Given the description of an element on the screen output the (x, y) to click on. 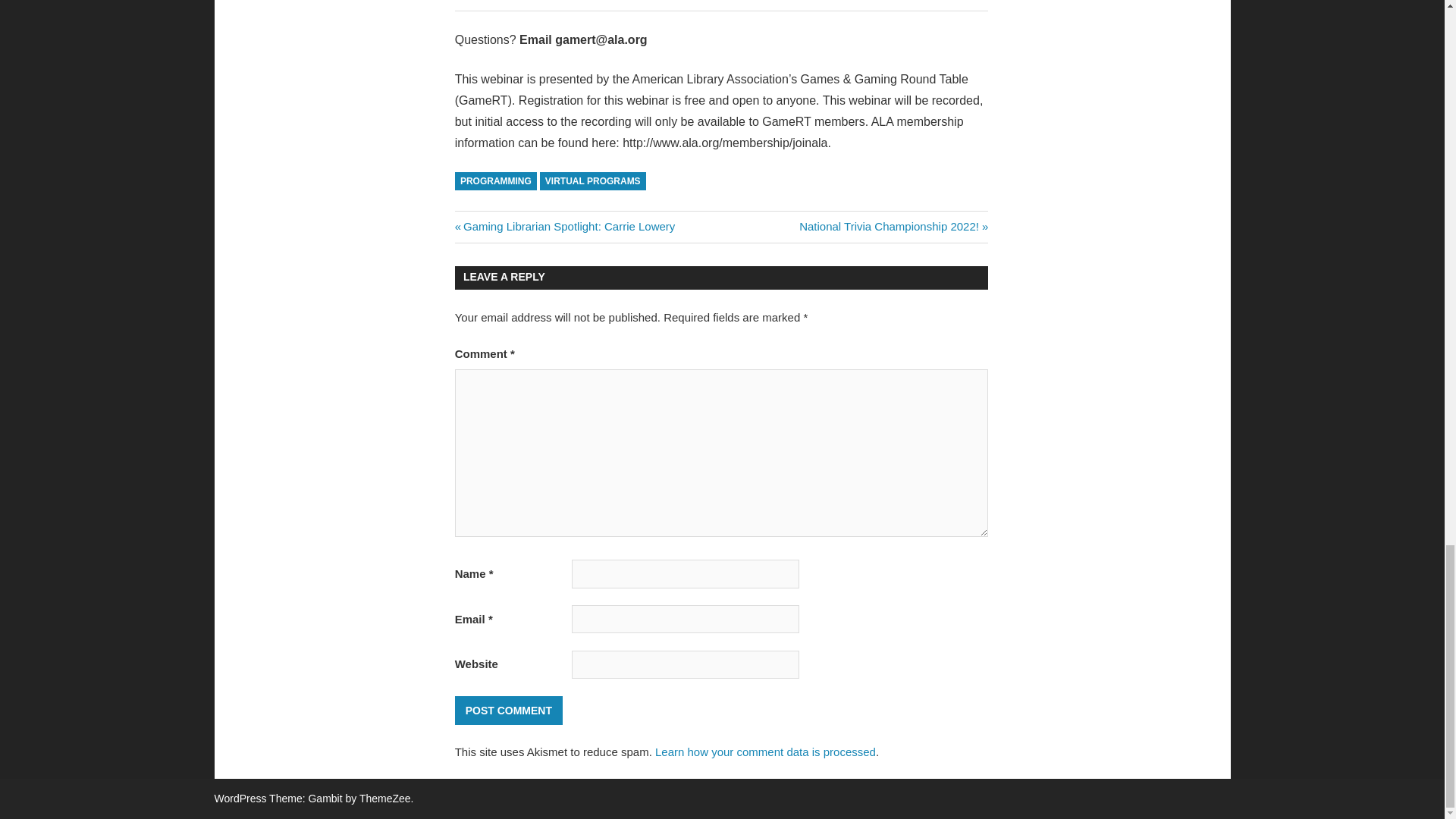
VIRTUAL PROGRAMS (593, 180)
PROGRAMMING (893, 226)
Post Comment (495, 180)
Learn how your comment data is processed (508, 710)
Post Comment (765, 751)
